Given the description of an element on the screen output the (x, y) to click on. 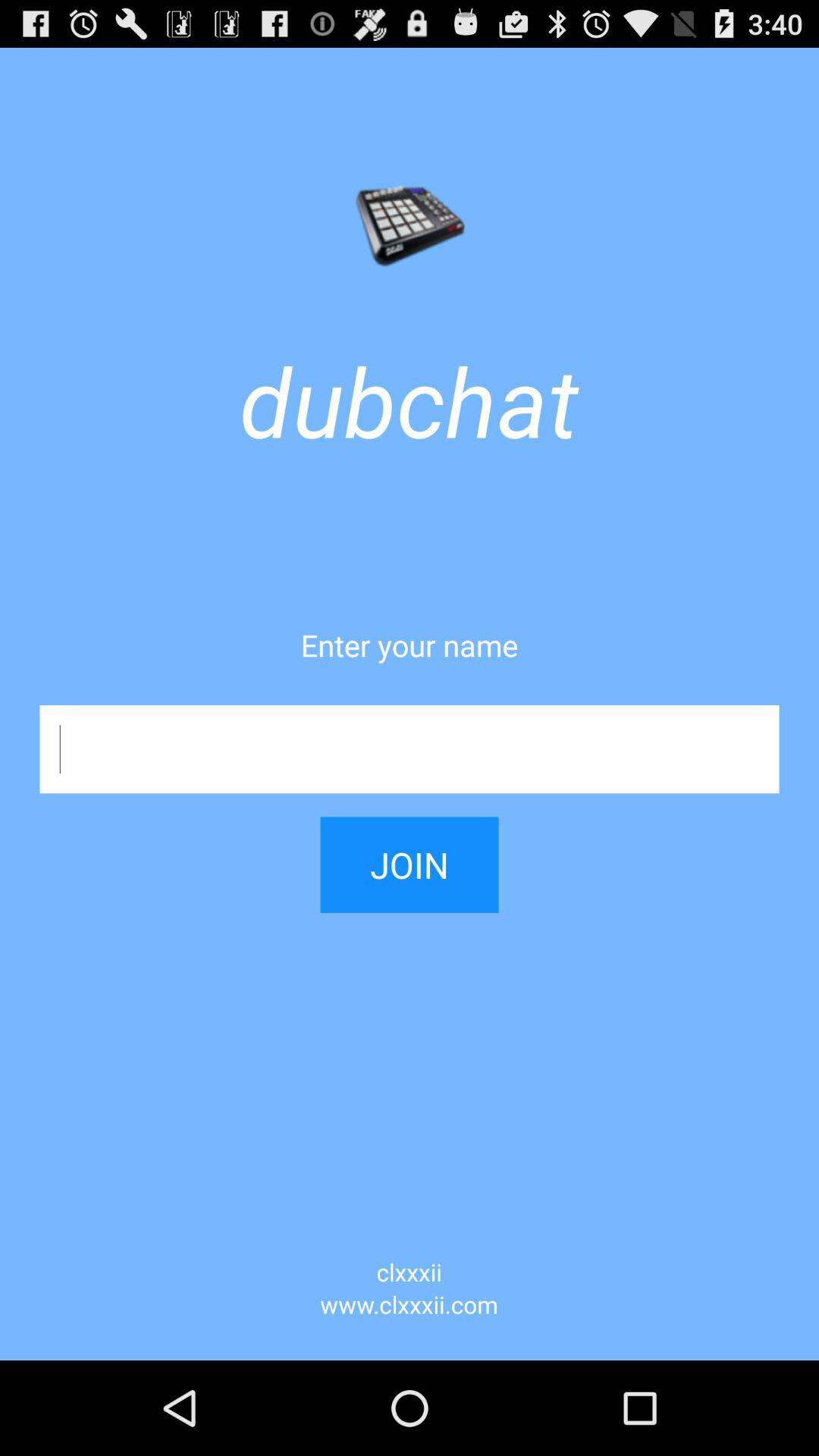
jump until join item (409, 851)
